Given the description of an element on the screen output the (x, y) to click on. 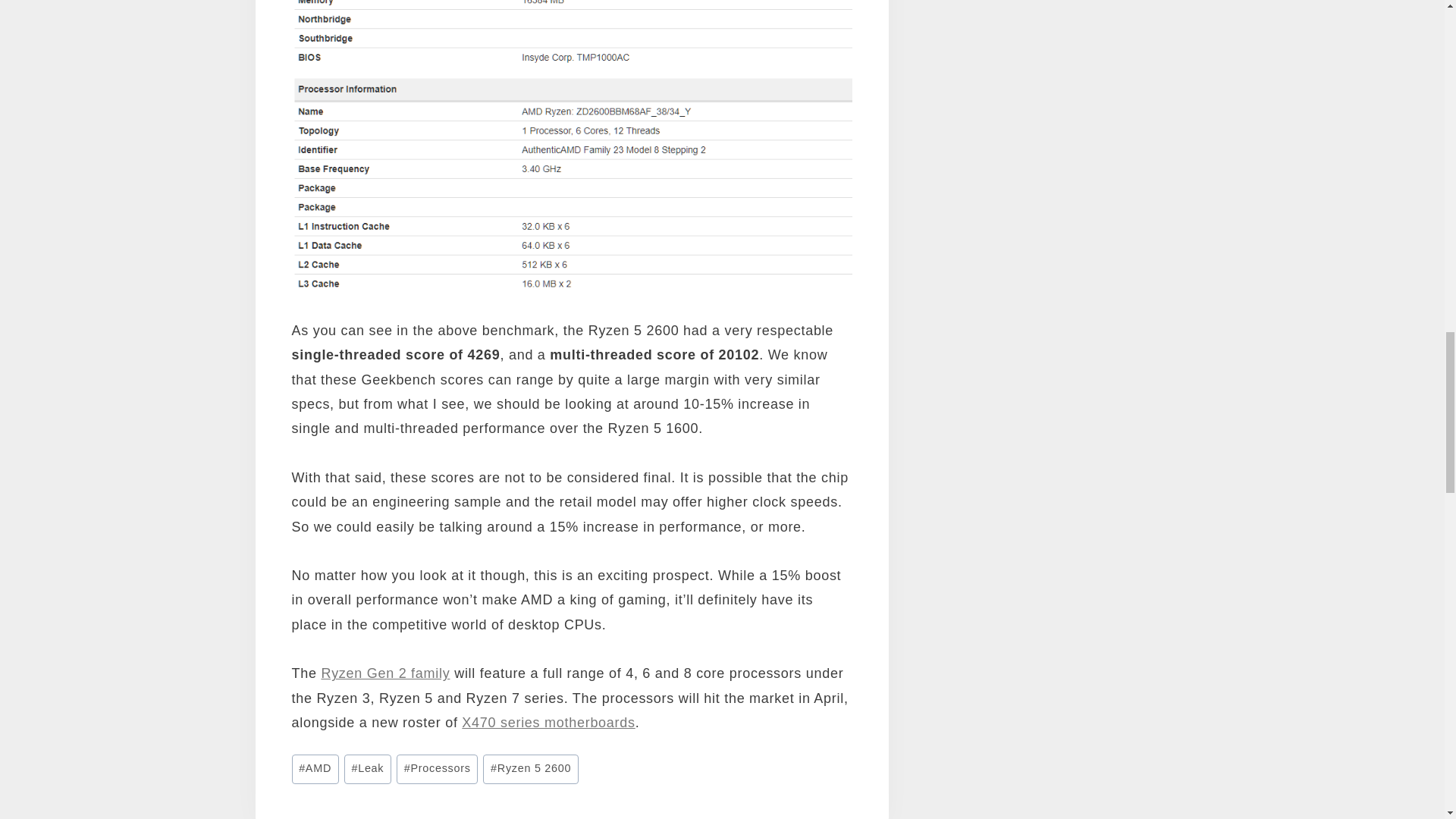
Ryzen Gen 2 family (384, 672)
Processors (436, 768)
Leak (367, 768)
AMD (314, 768)
Ryzen 5 2600 (530, 768)
X470 series motherboards (547, 722)
